Given the description of an element on the screen output the (x, y) to click on. 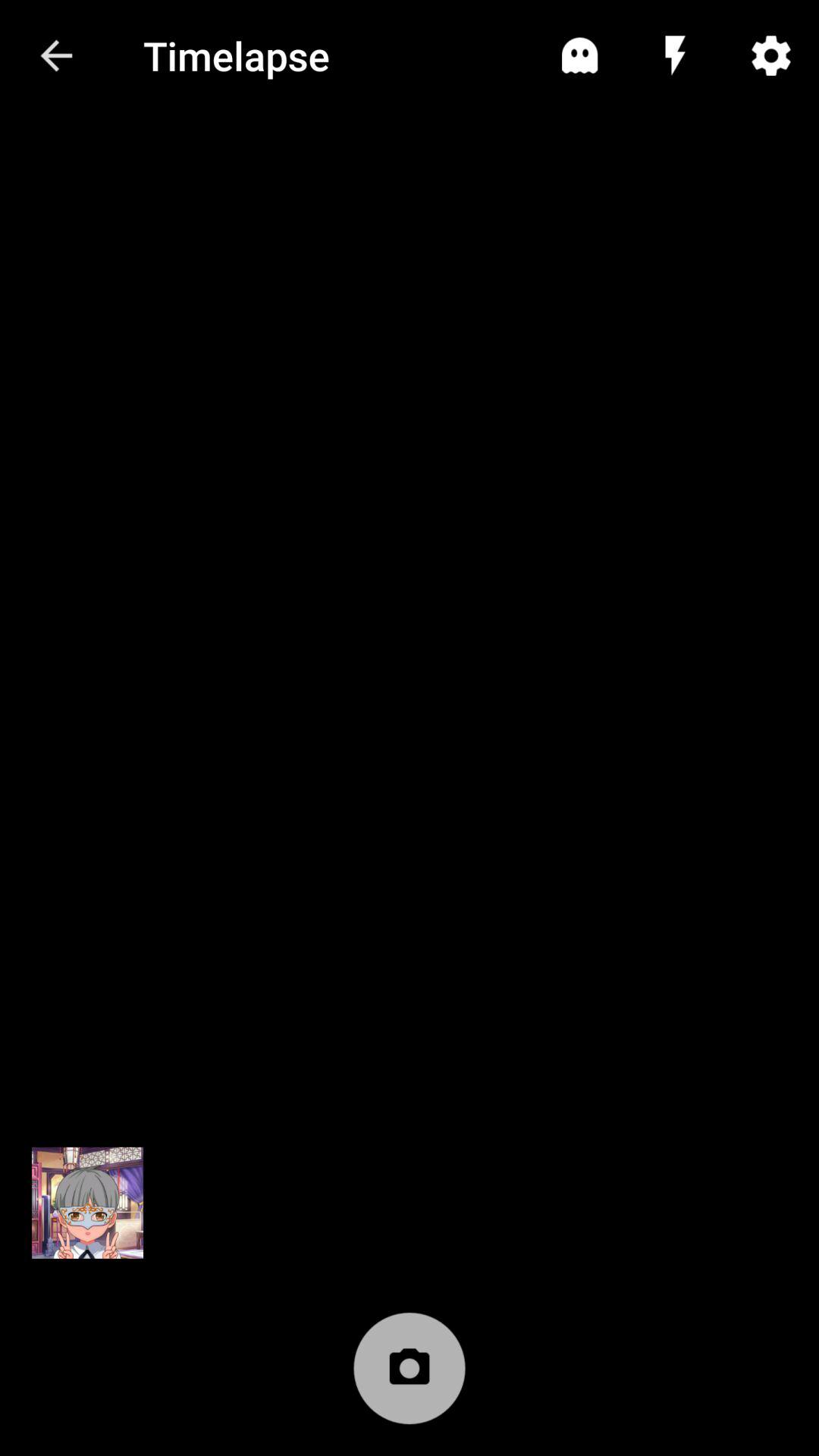
take a photo (409, 1376)
